Given the description of an element on the screen output the (x, y) to click on. 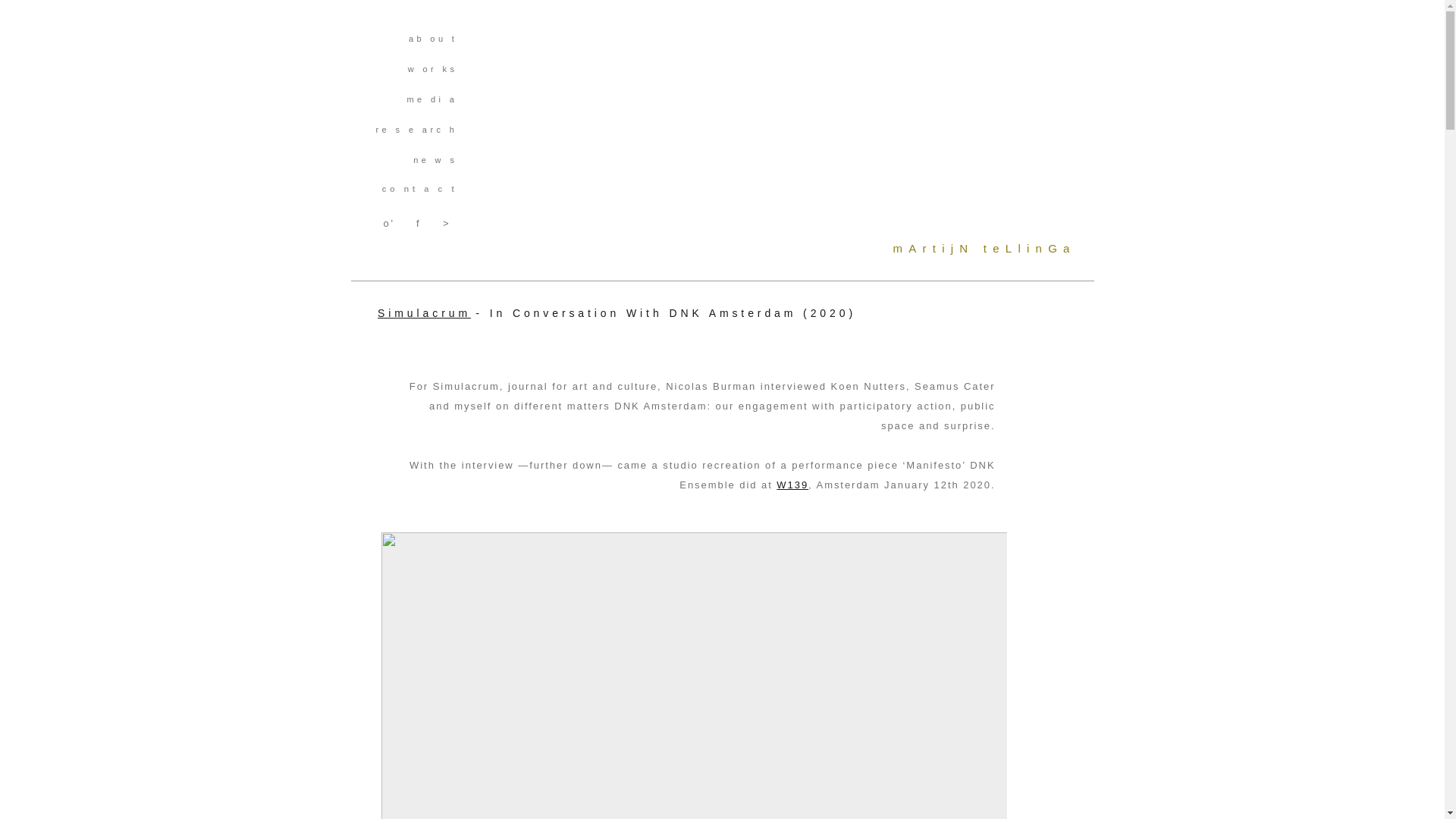
ab ou t (432, 38)
w or ks (432, 68)
Simulacrum (423, 313)
me di a (431, 98)
W139 (792, 484)
o' (388, 223)
ne w s (435, 159)
re s e arc h (416, 129)
f (417, 223)
